Given the description of an element on the screen output the (x, y) to click on. 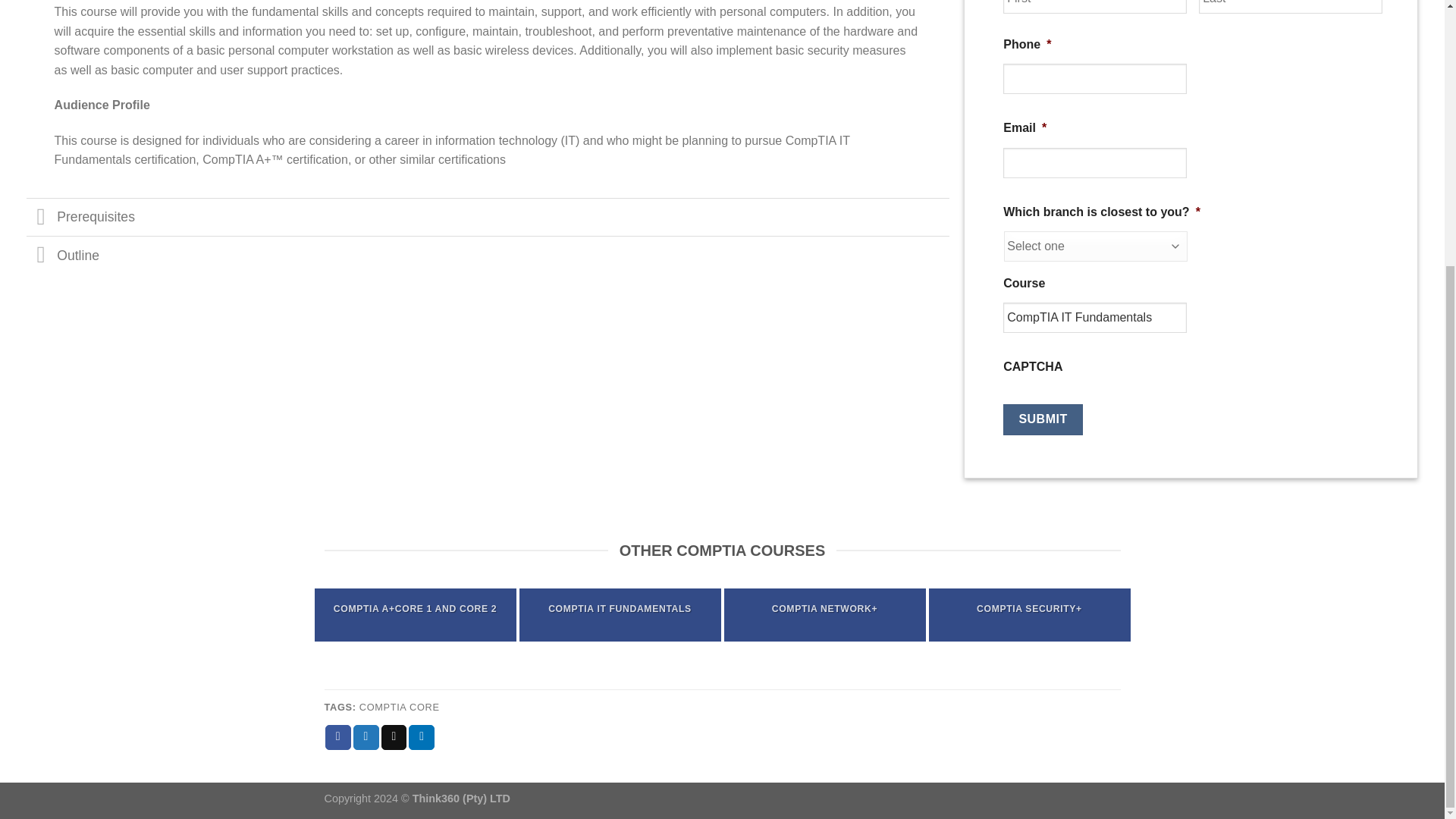
Share on LinkedIn (421, 737)
Email to a Friend (394, 737)
Share on Facebook (337, 737)
Share on Twitter (365, 737)
Submit (1043, 419)
CompTIA IT Fundamentals (1094, 317)
